Given the description of an element on the screen output the (x, y) to click on. 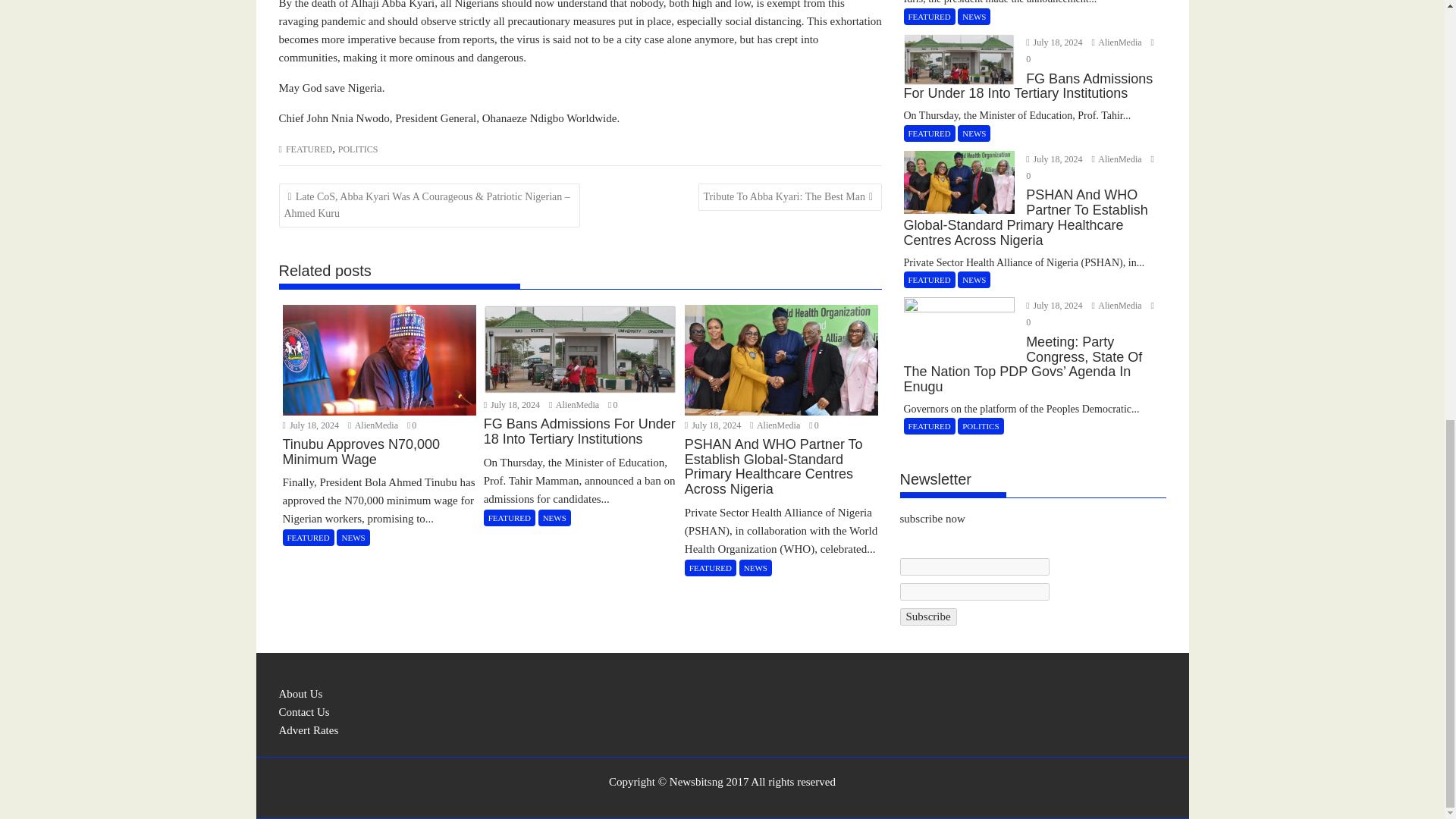
AlienMedia (373, 425)
AlienMedia (574, 404)
FEATURED (308, 149)
Subscribe (927, 616)
AlienMedia (775, 425)
POLITICS (357, 149)
